Given the description of an element on the screen output the (x, y) to click on. 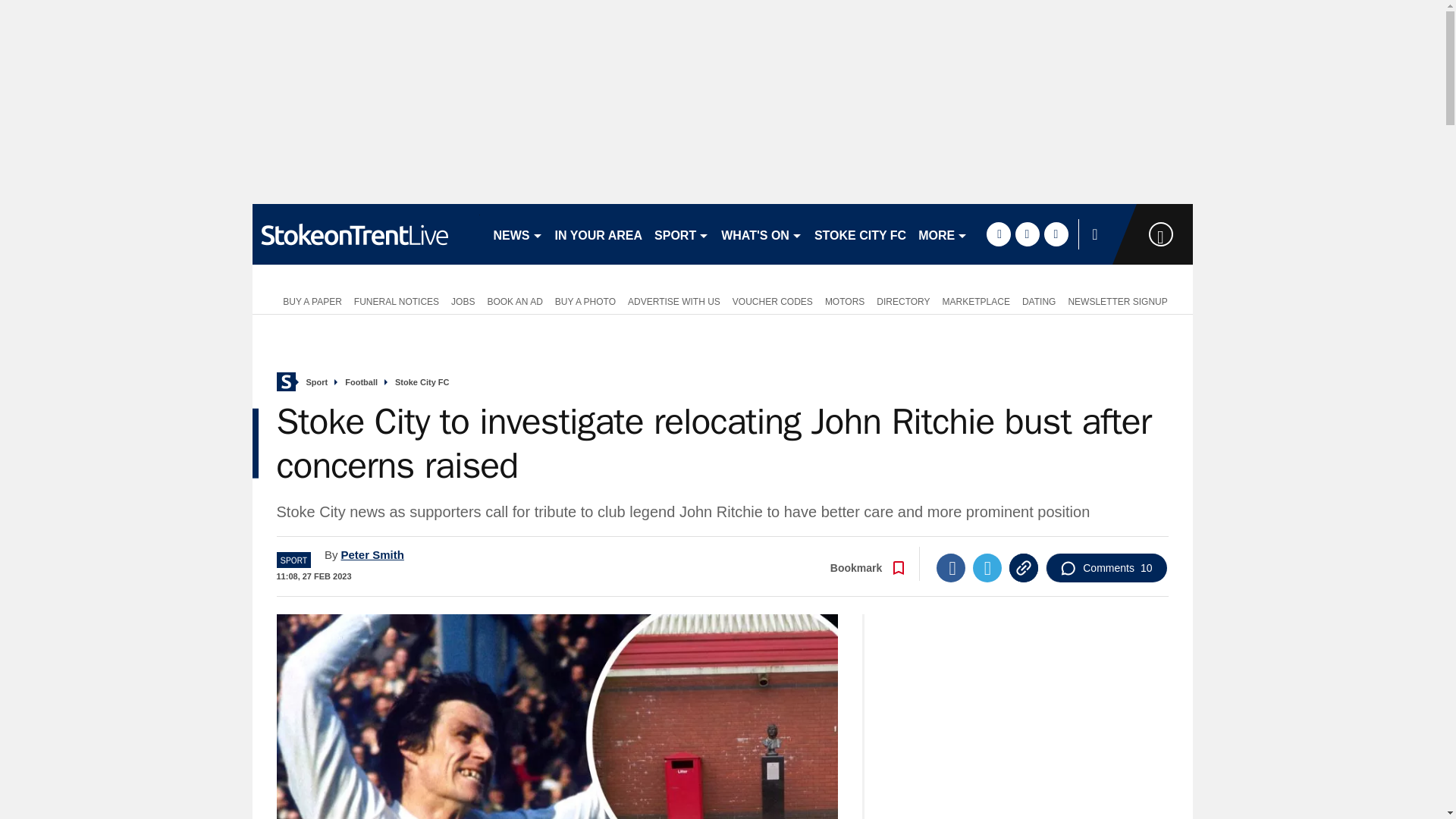
STOKE CITY FC (860, 233)
facebook (997, 233)
IN YOUR AREA (598, 233)
Comments (1105, 567)
twitter (1026, 233)
SPORT (680, 233)
NEWS (517, 233)
Facebook (950, 567)
MORE (943, 233)
Twitter (986, 567)
